Given the description of an element on the screen output the (x, y) to click on. 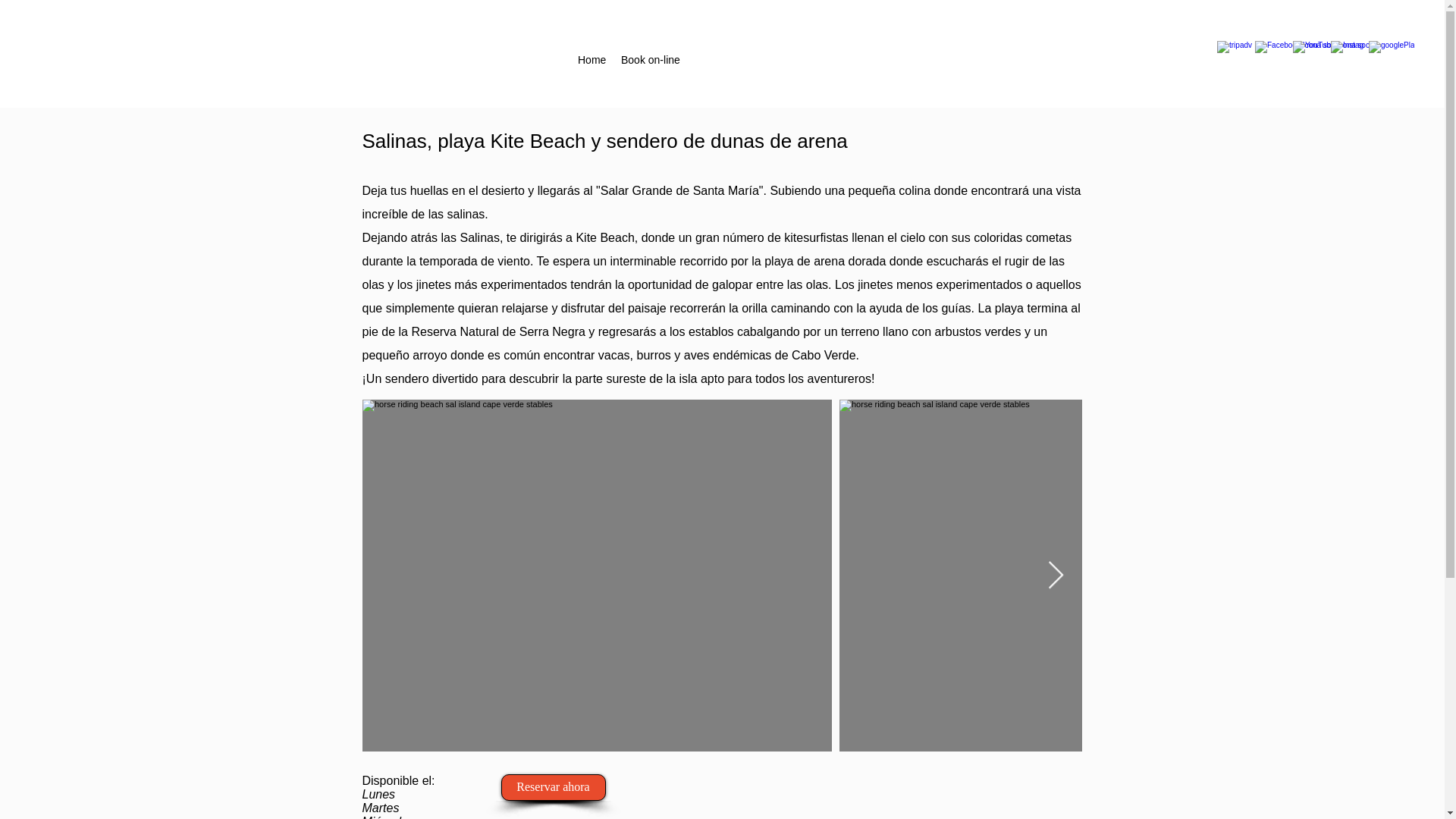
Reservar ahora (552, 786)
Book on-line (649, 59)
Home (591, 59)
